Given the description of an element on the screen output the (x, y) to click on. 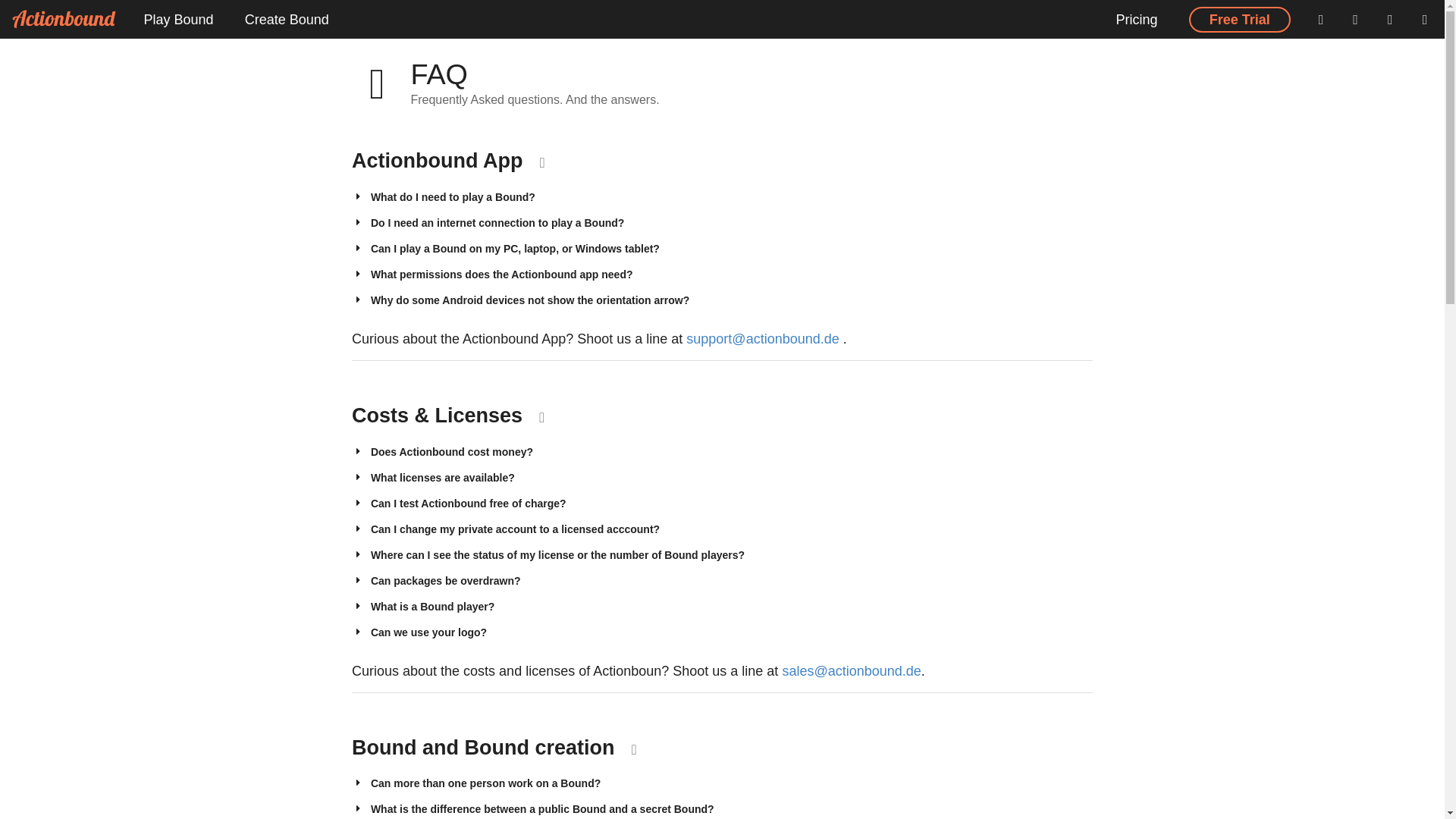
Free Trial (1239, 19)
Play Bound (178, 19)
Create Bound (285, 19)
Pricing (1136, 19)
